Given the description of an element on the screen output the (x, y) to click on. 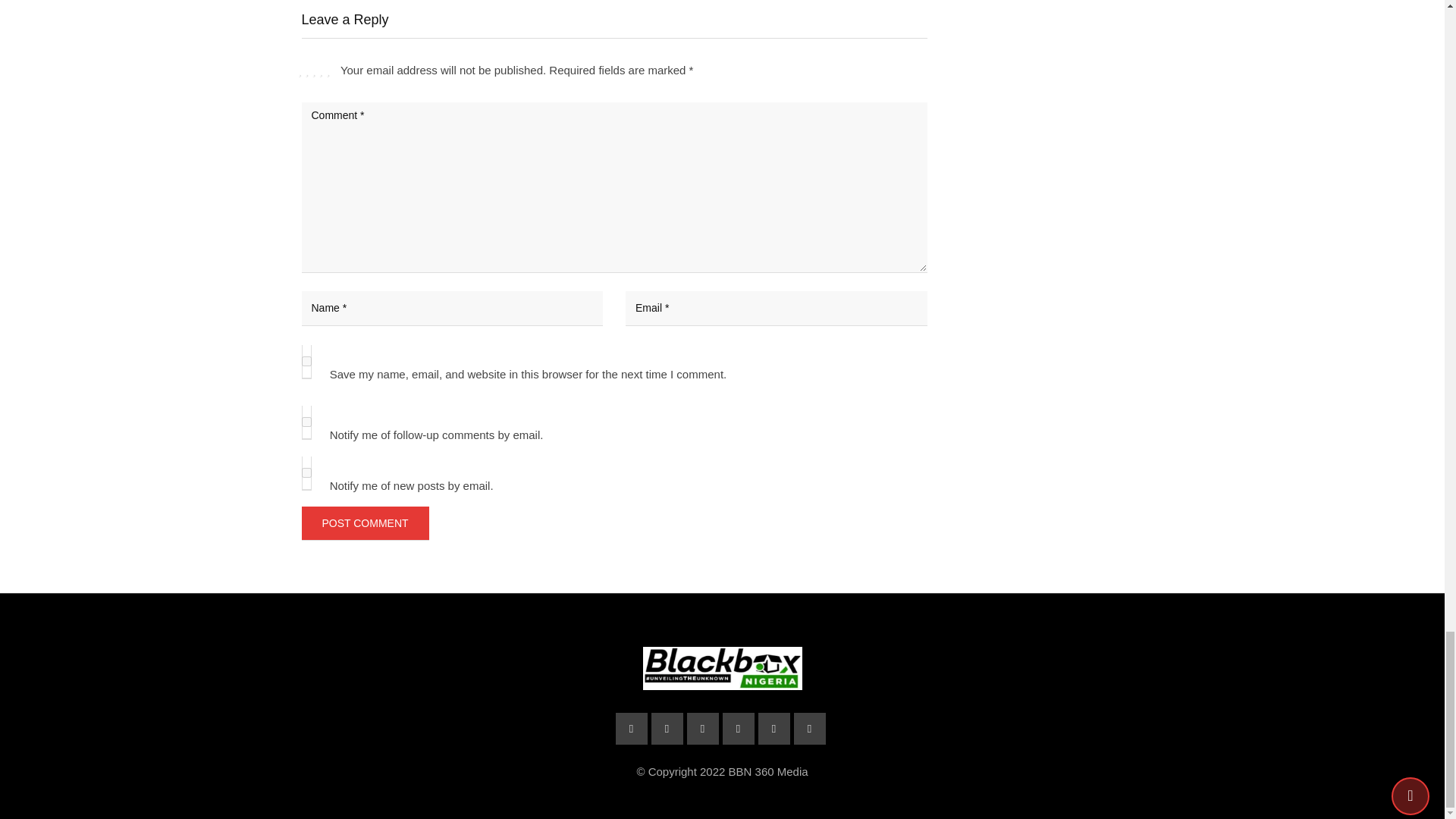
Post Comment (365, 522)
